Given the description of an element on the screen output the (x, y) to click on. 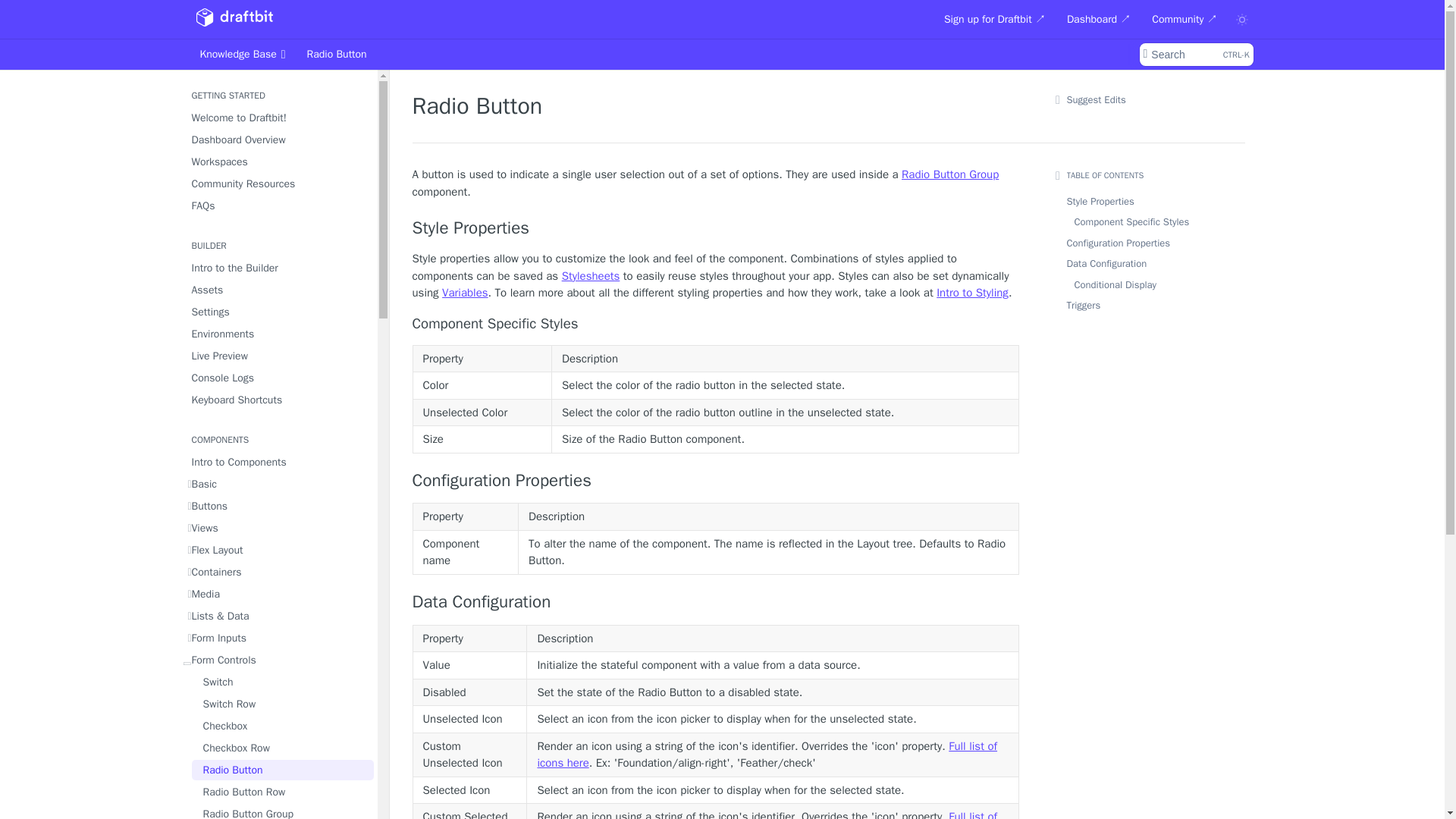
Buttons (277, 506)
Component Specific Styles (715, 323)
FAQs (277, 205)
Knowledge Base (242, 54)
Intro to Components (1195, 54)
Console Logs (277, 462)
Keyboard Shortcuts (277, 377)
Basic (277, 399)
Settings (277, 484)
